Given the description of an element on the screen output the (x, y) to click on. 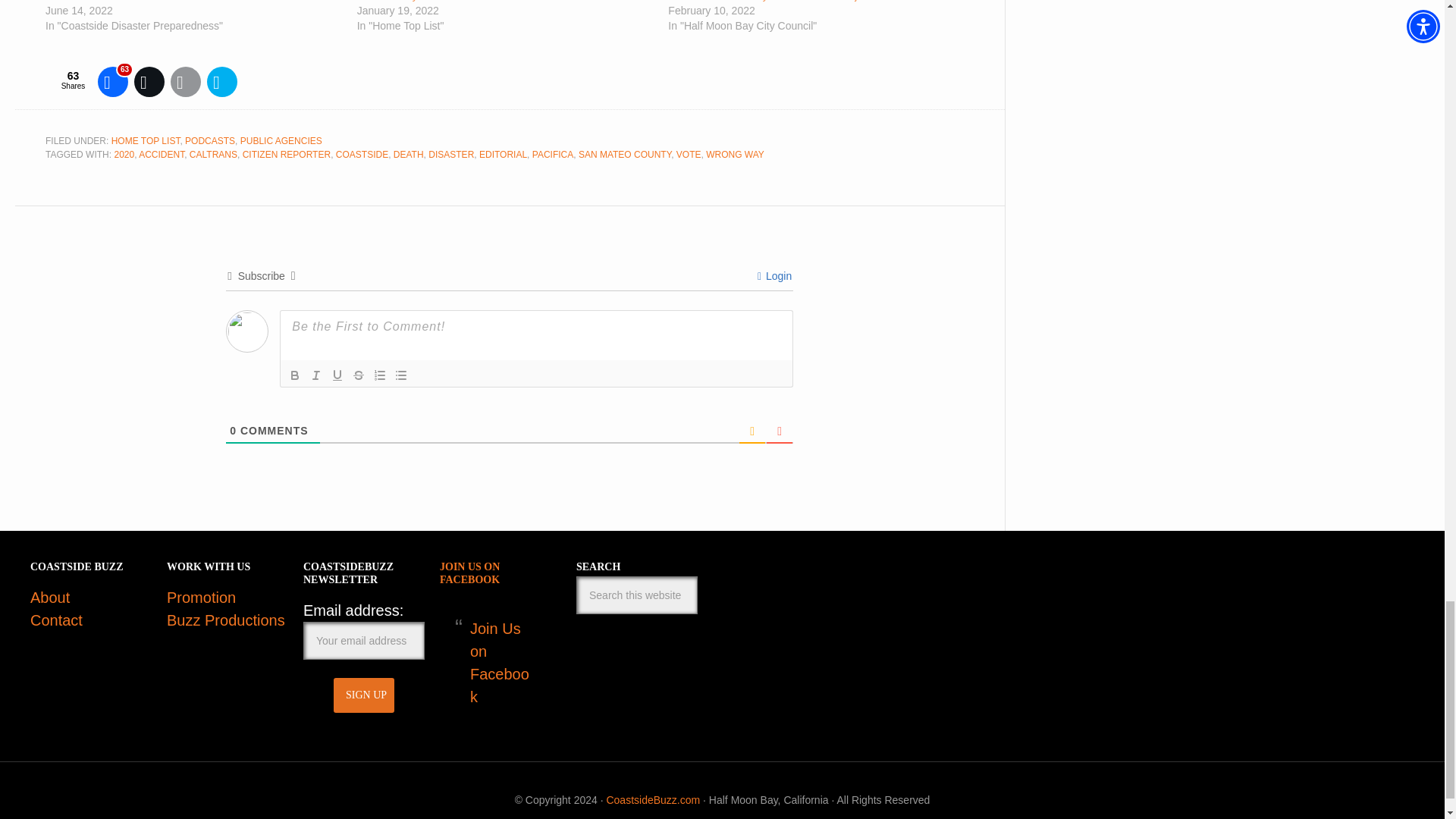
Sign up (363, 695)
PrintFriendly (221, 81)
Facebook (112, 81)
Email This (185, 81)
